Given the description of an element on the screen output the (x, y) to click on. 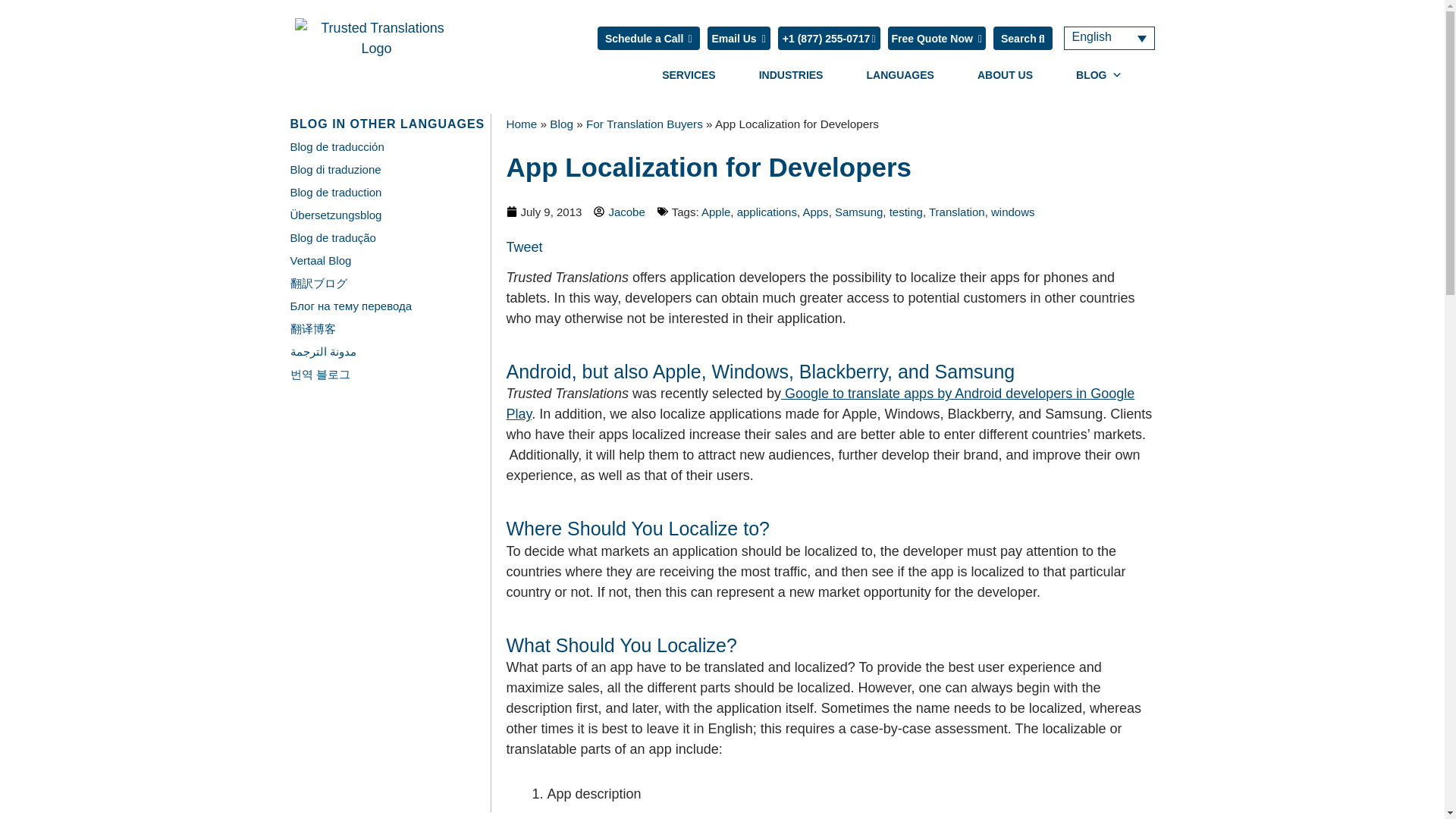
App Translation (820, 403)
English (1108, 37)
Vertaal Blog (319, 259)
SERVICES (688, 74)
INDUSTRIES (791, 74)
Free Quote Now (935, 37)
LANGUAGES (899, 74)
Home (521, 123)
BLOG (1098, 74)
Blog de traduction (335, 192)
Search (1022, 37)
Blog di traduzione (334, 169)
ABOUT US (1005, 74)
Email Us (738, 37)
